Given the description of an element on the screen output the (x, y) to click on. 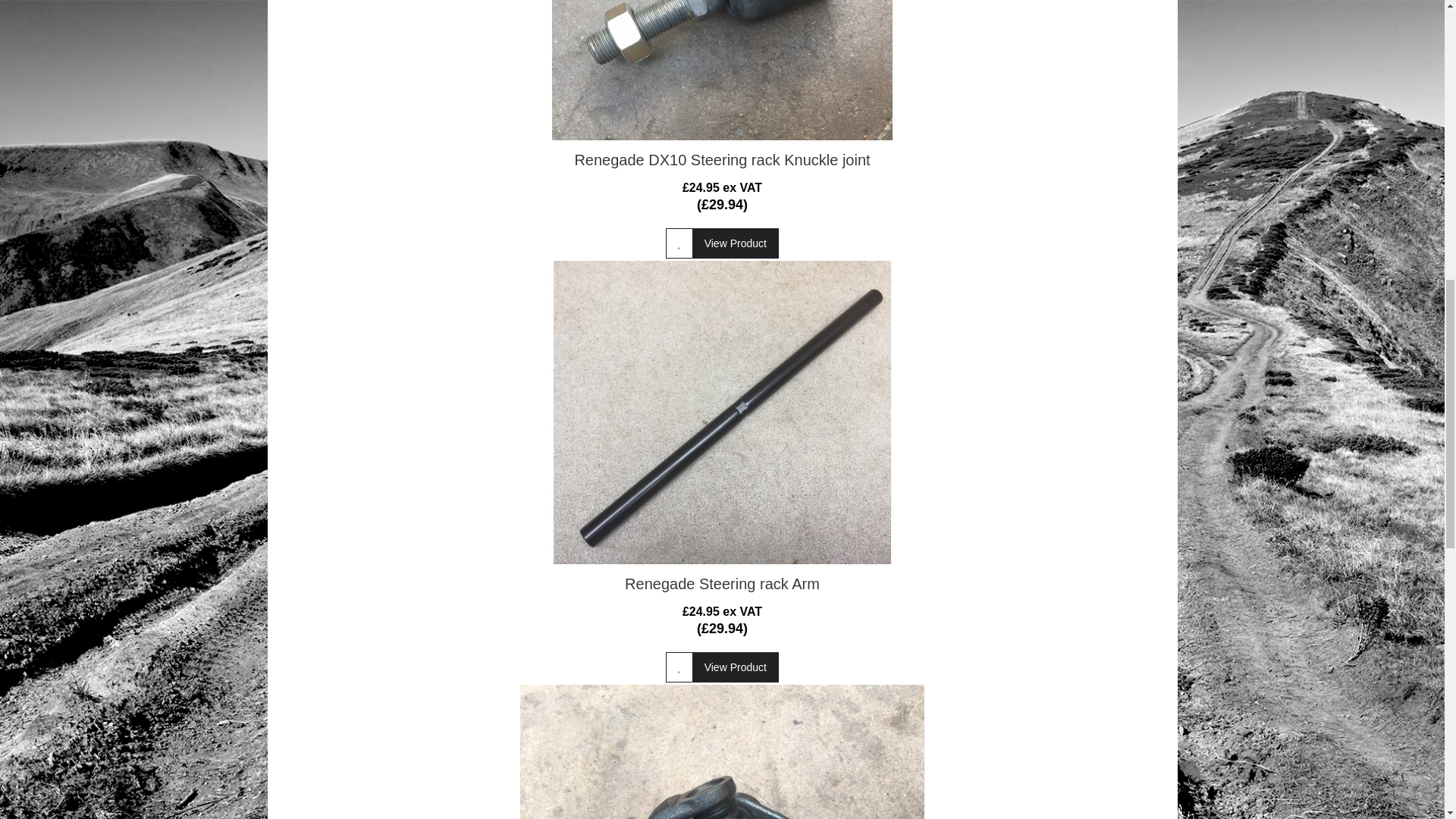
Renegade DX10 Steering rack Knuckle joint (721, 70)
Universal Joint - weld on (721, 751)
Add to Wish List (679, 243)
Renegade Steering rack Arm (721, 412)
Add to Wish List (679, 666)
